Given the description of an element on the screen output the (x, y) to click on. 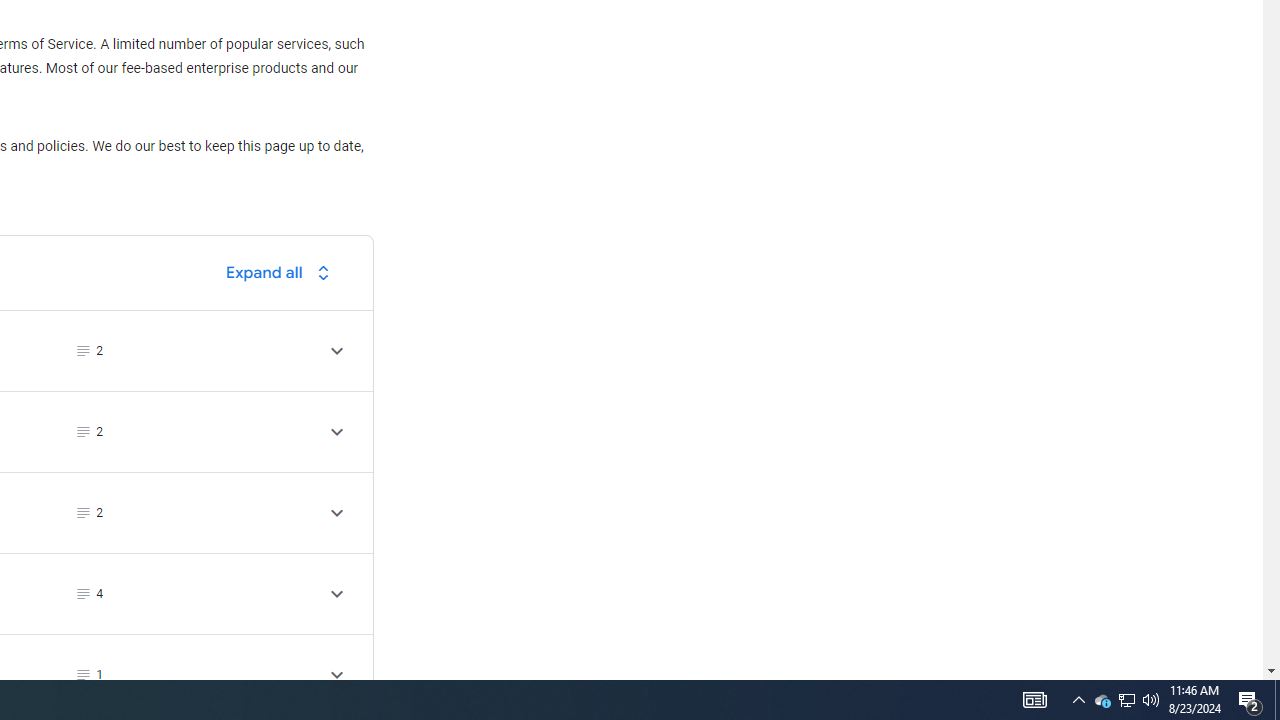
Expand all (283, 272)
